Given the description of an element on the screen output the (x, y) to click on. 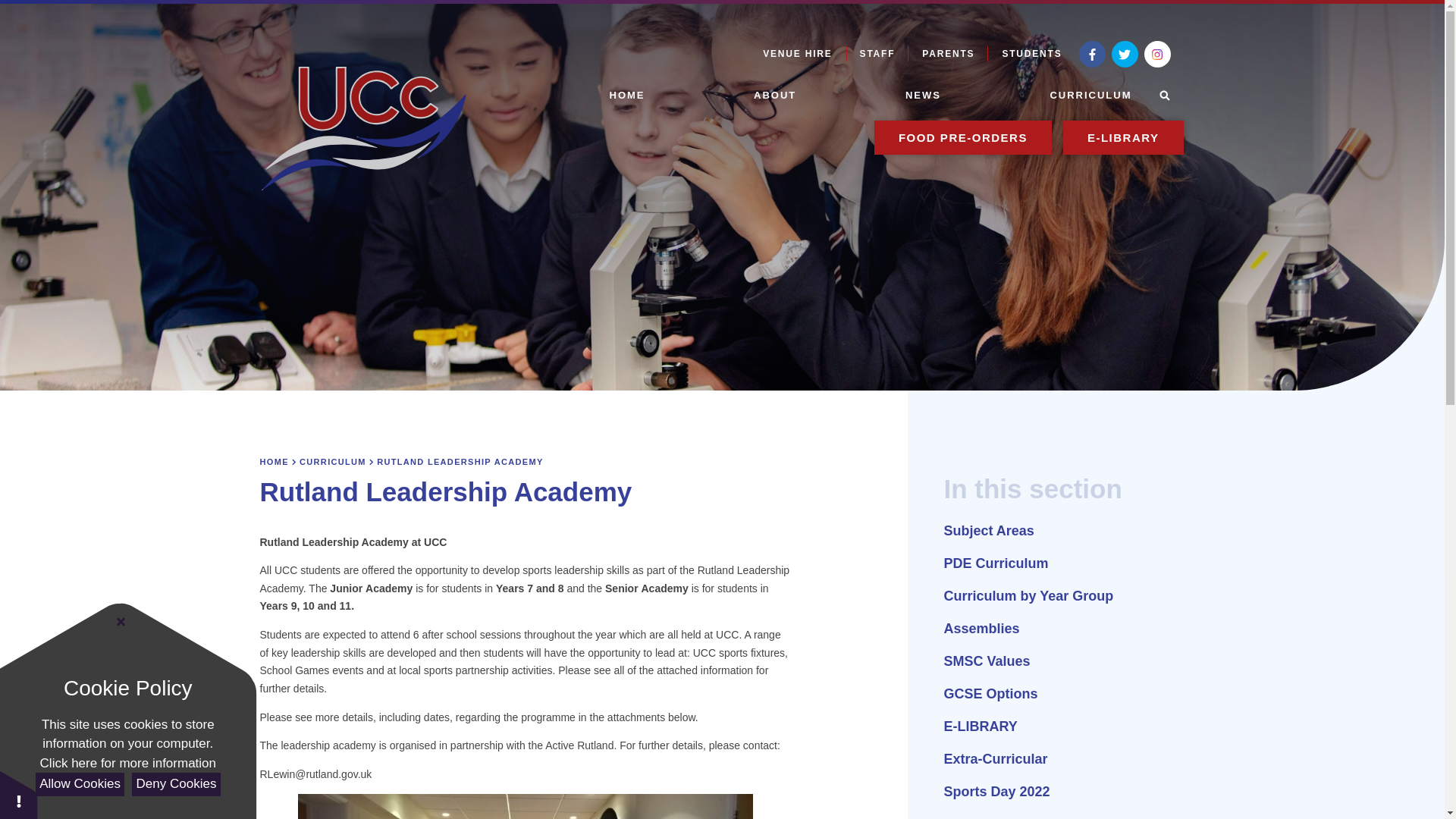
Facebook (1091, 53)
Twitter (1125, 53)
Deny Cookies (175, 784)
Allow Cookies (78, 784)
PARENTS (948, 53)
STUDENTS (1031, 53)
See cookie policy (127, 763)
VENUE HIRE (797, 53)
HOME (627, 94)
Instagram (1156, 53)
